Given the description of an element on the screen output the (x, y) to click on. 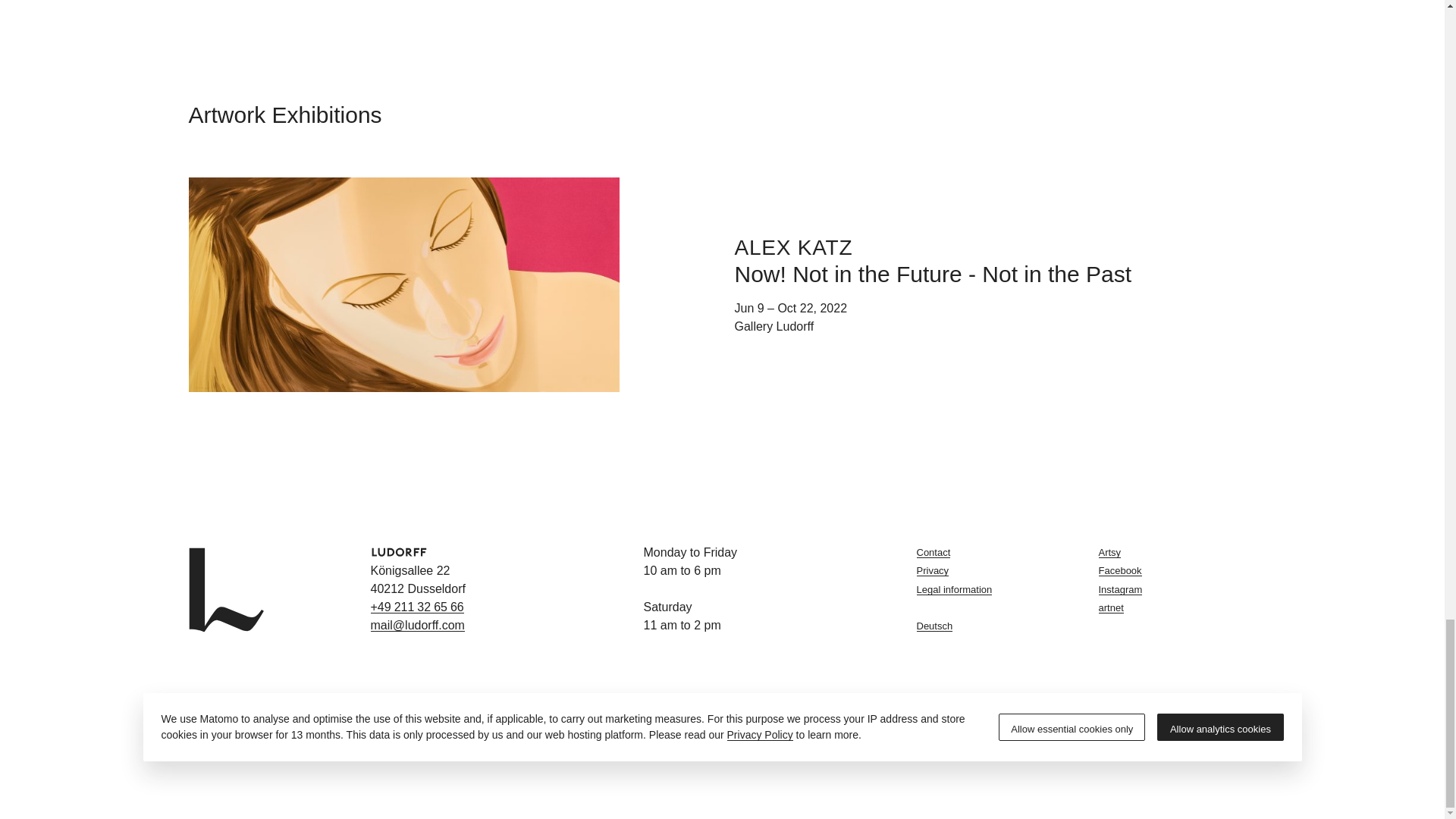
Instagram (1176, 589)
Facebook (1176, 570)
ALEX KATZ (792, 246)
Now! Not in the Future - Not in the Past (932, 273)
Artsy (1176, 552)
